Given the description of an element on the screen output the (x, y) to click on. 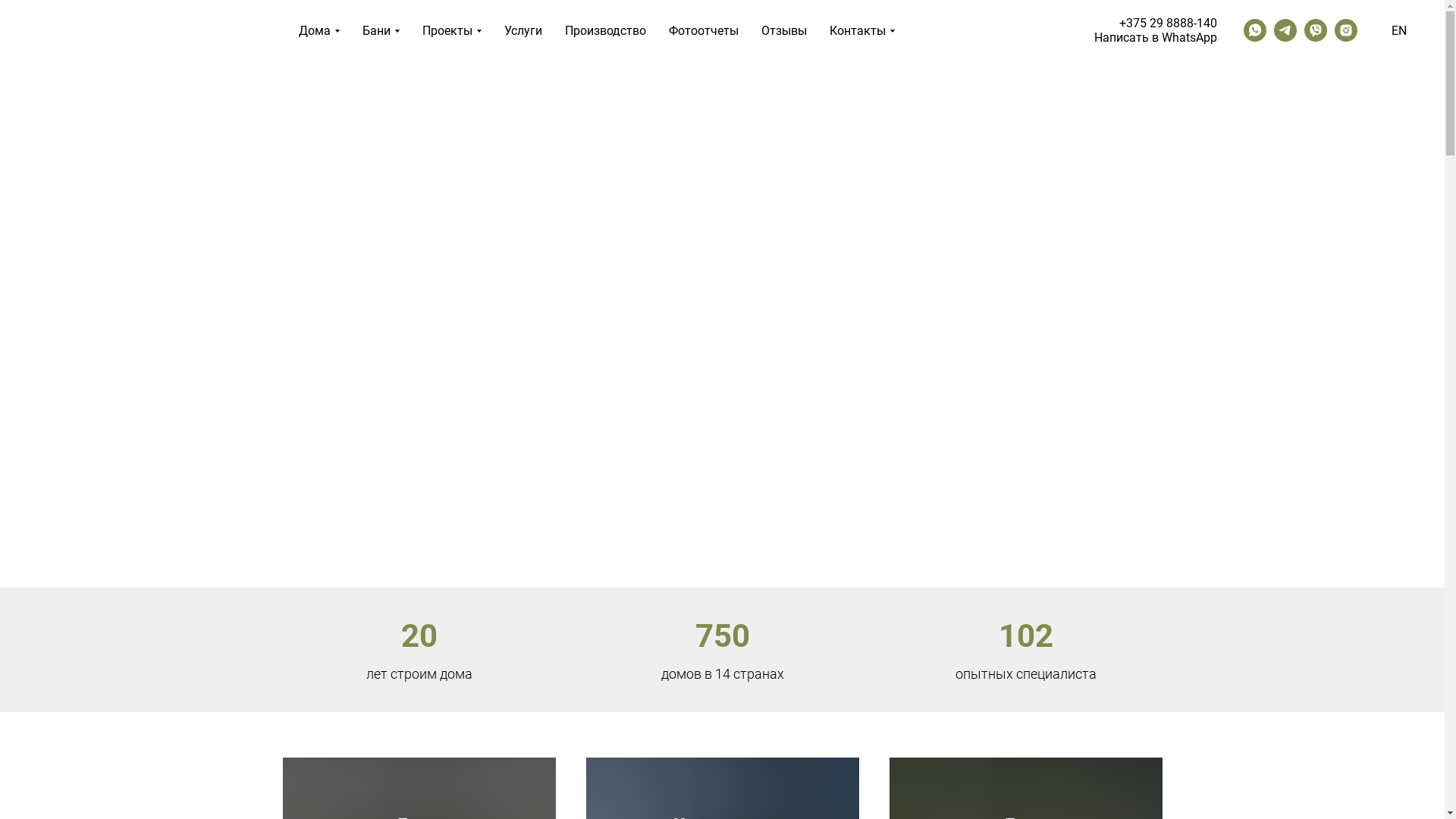
+375 29 8888-140 Element type: text (1168, 22)
EN Element type: text (1398, 29)
